Given the description of an element on the screen output the (x, y) to click on. 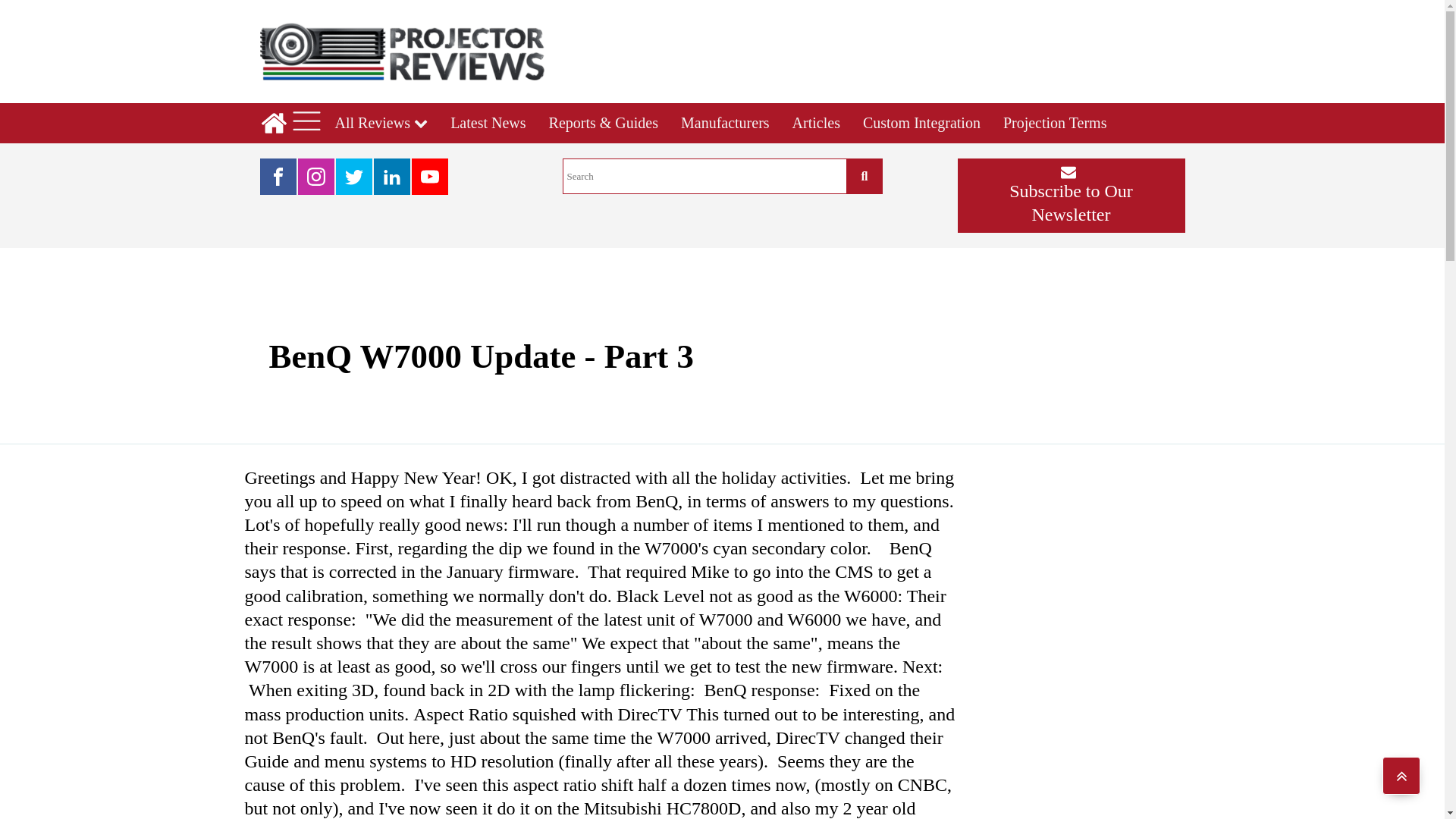
Search (704, 176)
Search (863, 176)
